Given the description of an element on the screen output the (x, y) to click on. 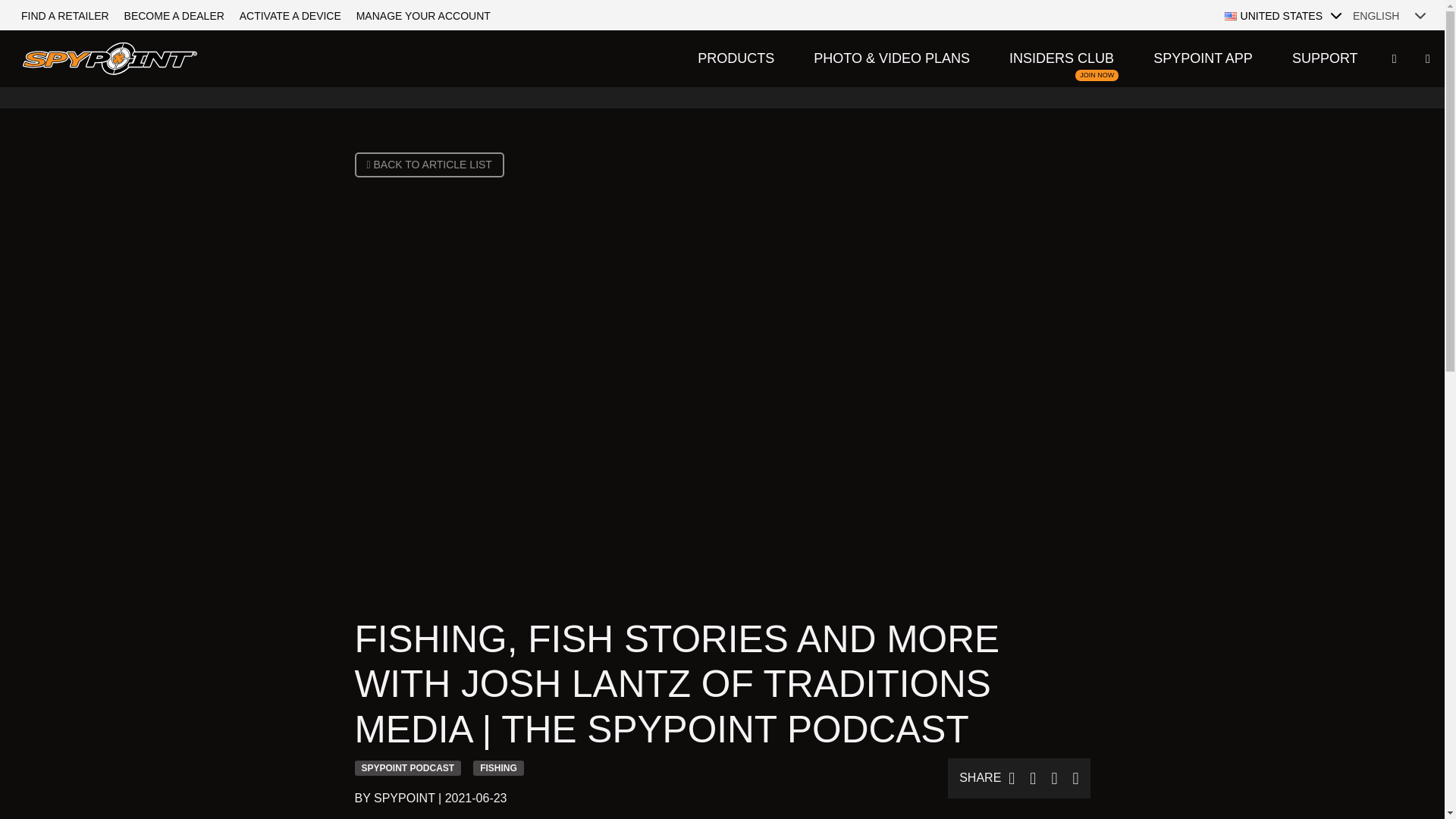
SPYPOINT APP (1203, 58)
UNITED STATES (1284, 15)
PRODUCTS (735, 58)
FIND A RETAILER (64, 15)
ACTIVATE A DEVICE (289, 15)
Language (1390, 15)
BECOME A DEALER (173, 15)
MANAGE YOUR ACCOUNT (423, 15)
SUPPORT (1062, 58)
